Given the description of an element on the screen output the (x, y) to click on. 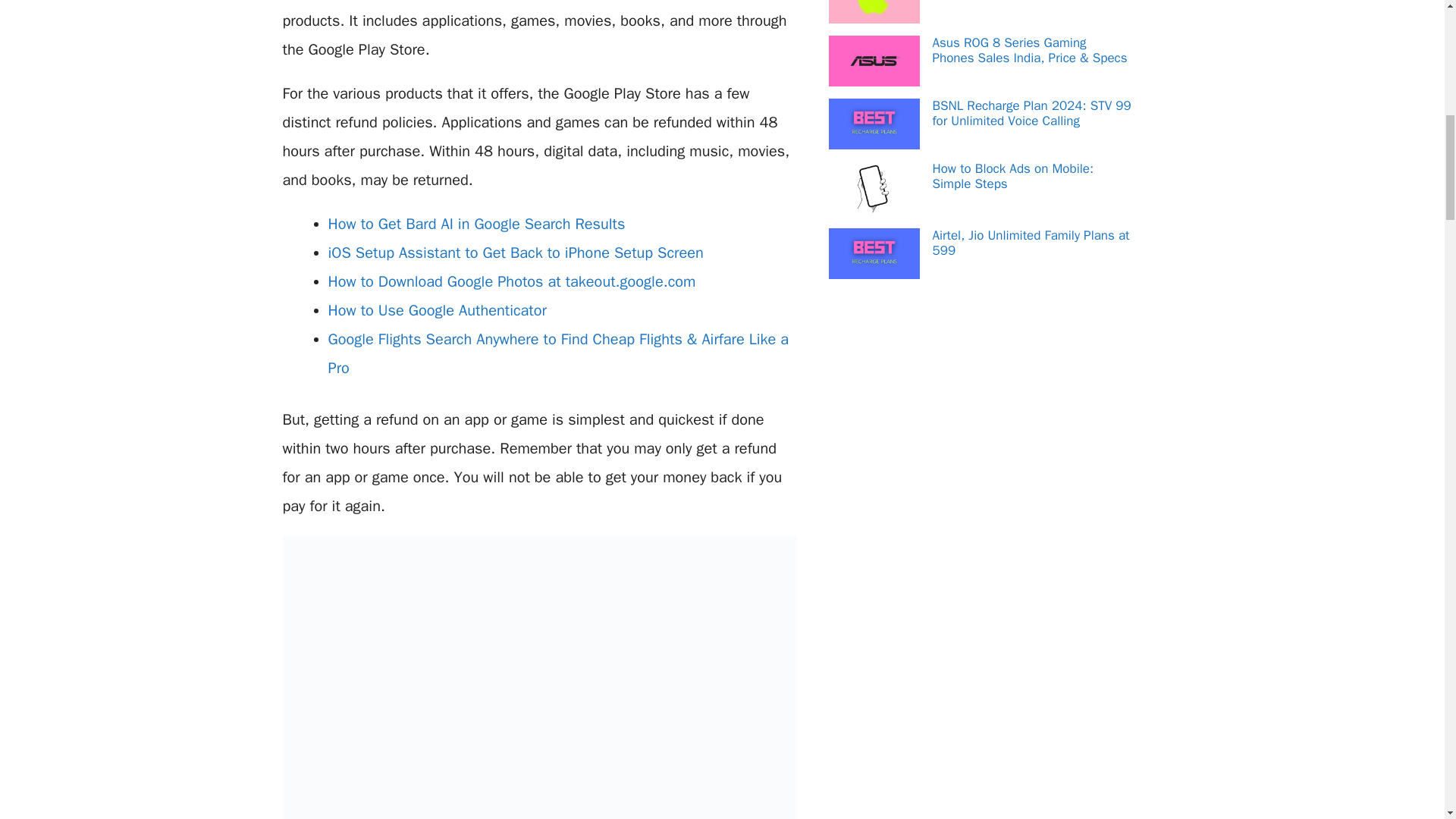
How to Use Google Authenticator (436, 310)
iOS Setup Assistant to Get Back to iPhone Setup Screen (515, 252)
How to Get Bard AI in Google Search Results (475, 223)
How to Download Google Photos at takeout.google.com (511, 281)
